Given the description of an element on the screen output the (x, y) to click on. 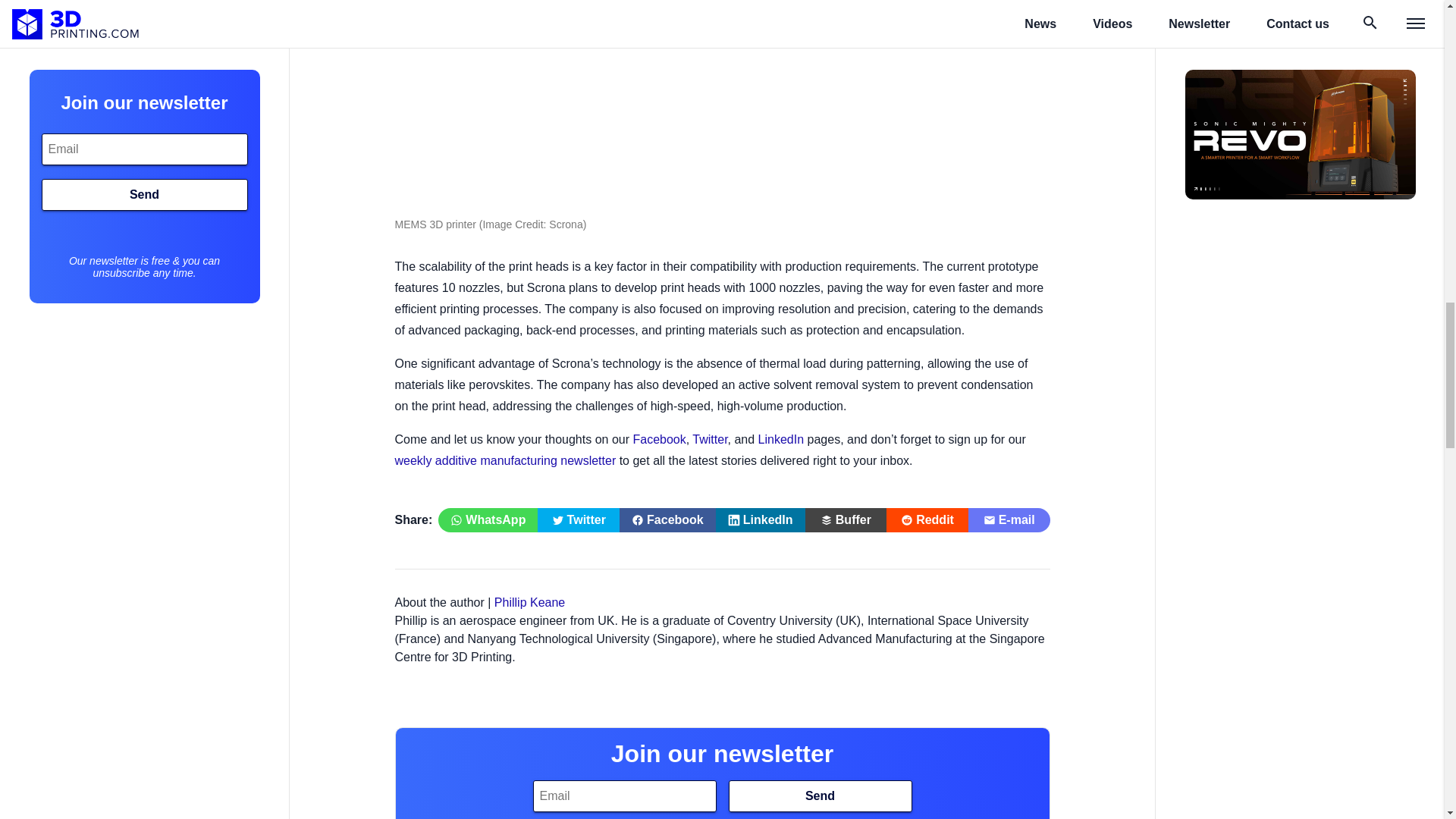
Facebook (658, 439)
Buffer (845, 519)
Facebook (668, 519)
Phillip Keane (529, 602)
WhatsApp (487, 519)
Send (819, 796)
LinkedIn (781, 439)
Share by Email (1008, 519)
LinkedIn (760, 519)
Twitter (578, 519)
Posts by Phillip Keane (529, 602)
Send (819, 796)
Twitter (709, 439)
E-mail (1008, 519)
weekly additive manufacturing newsletter (504, 460)
